Given the description of an element on the screen output the (x, y) to click on. 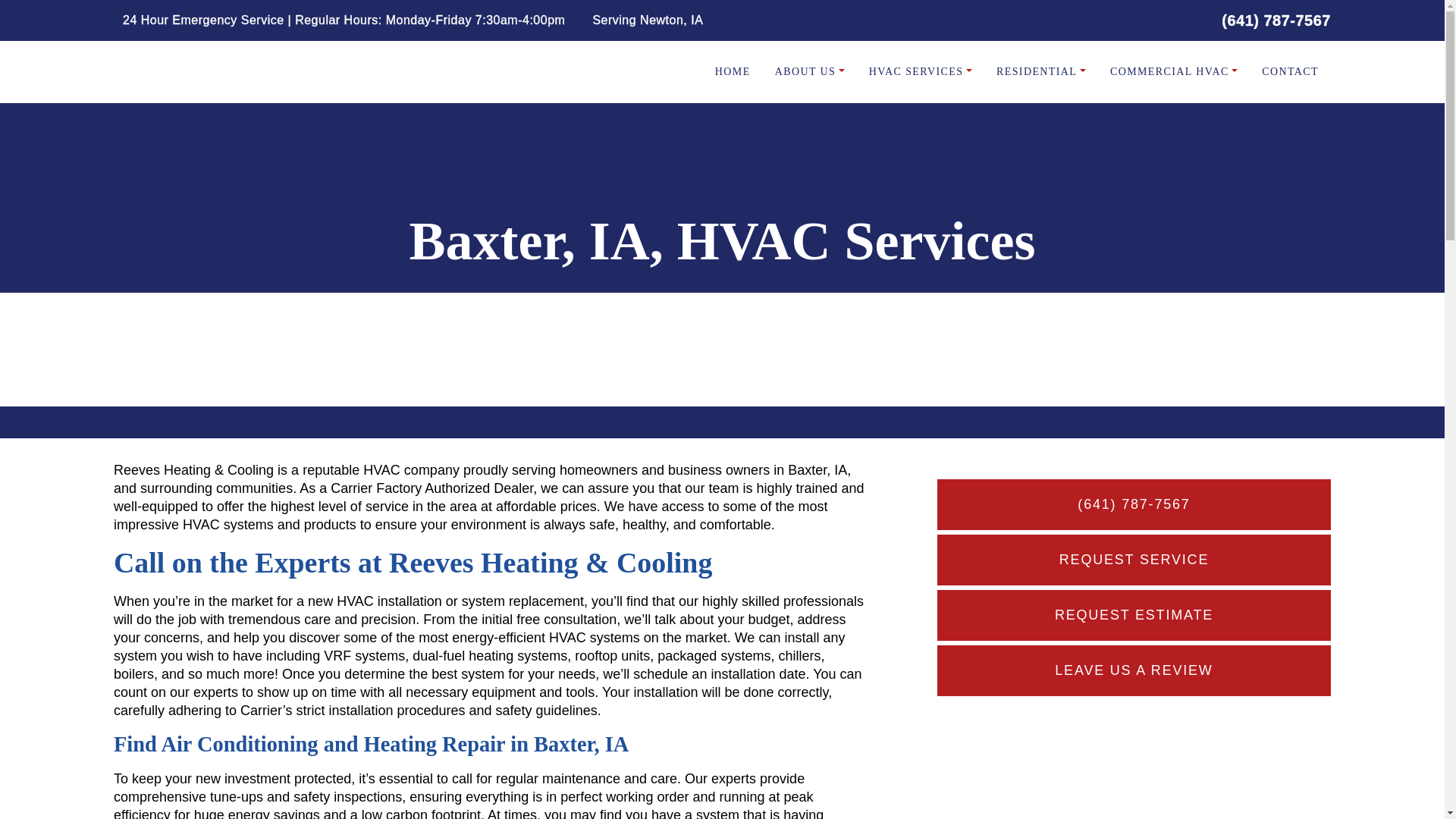
HVAC SERVICES (919, 71)
HOME (732, 71)
ABOUT US (810, 71)
RESIDENTIAL (1040, 71)
COMMERCIAL HVAC (1174, 71)
CONTACT (1289, 71)
